Given the description of an element on the screen output the (x, y) to click on. 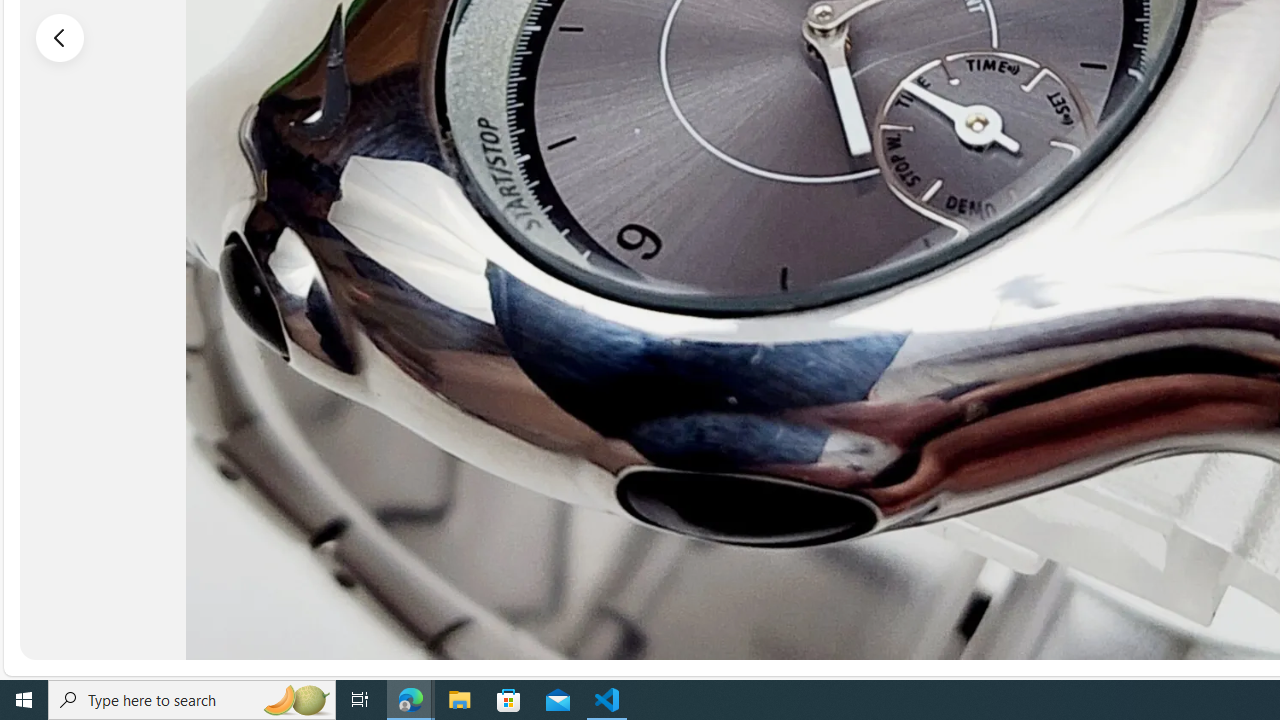
Previous image - Item images thumbnails (59, 37)
